Given the description of an element on the screen output the (x, y) to click on. 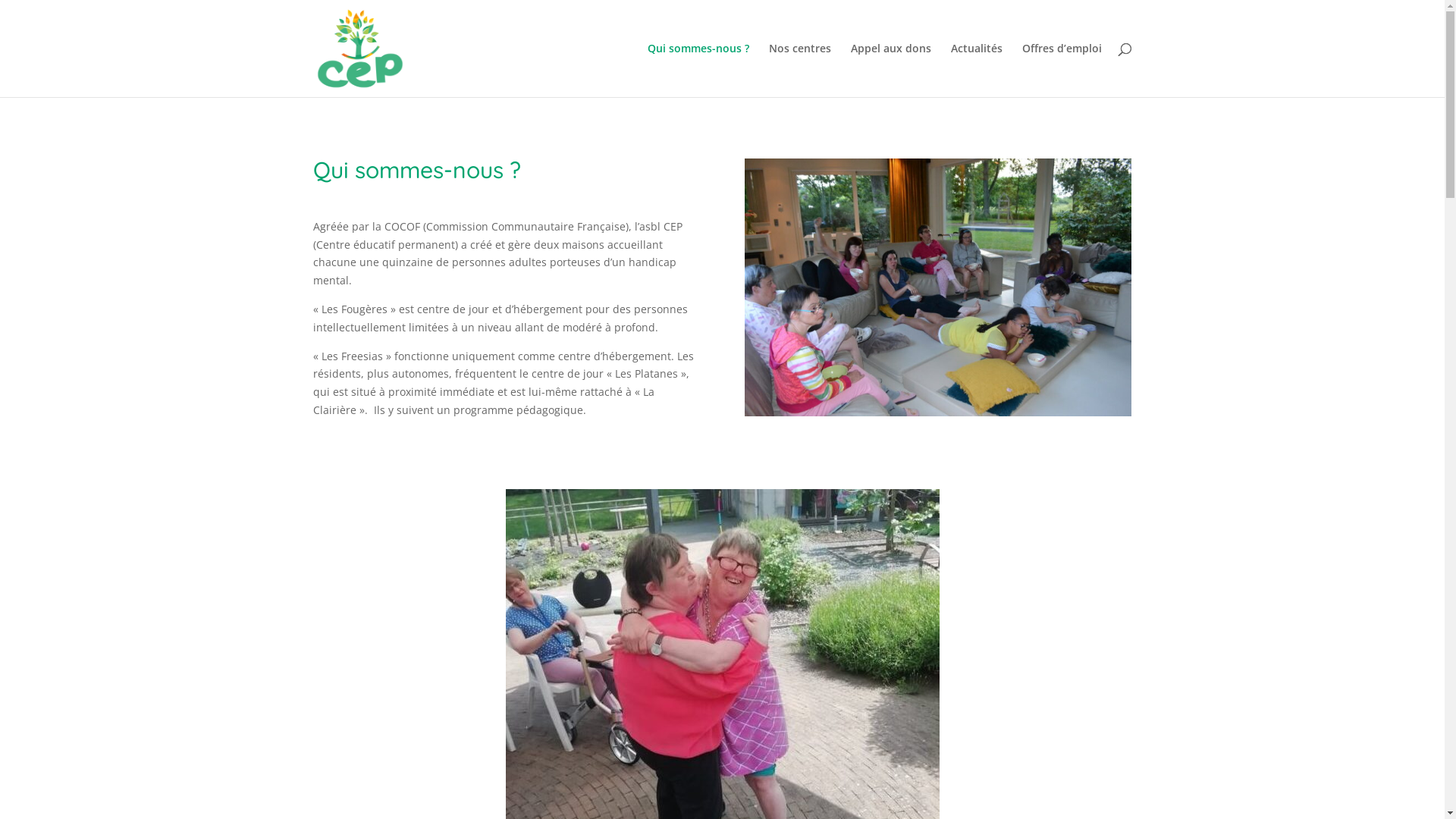
Qui sommes-nous ? Element type: text (698, 70)
Appel aux dons Element type: text (890, 70)
Cool aux Freesias.900p Element type: hover (937, 287)
Nos centres Element type: text (799, 70)
